Given the description of an element on the screen output the (x, y) to click on. 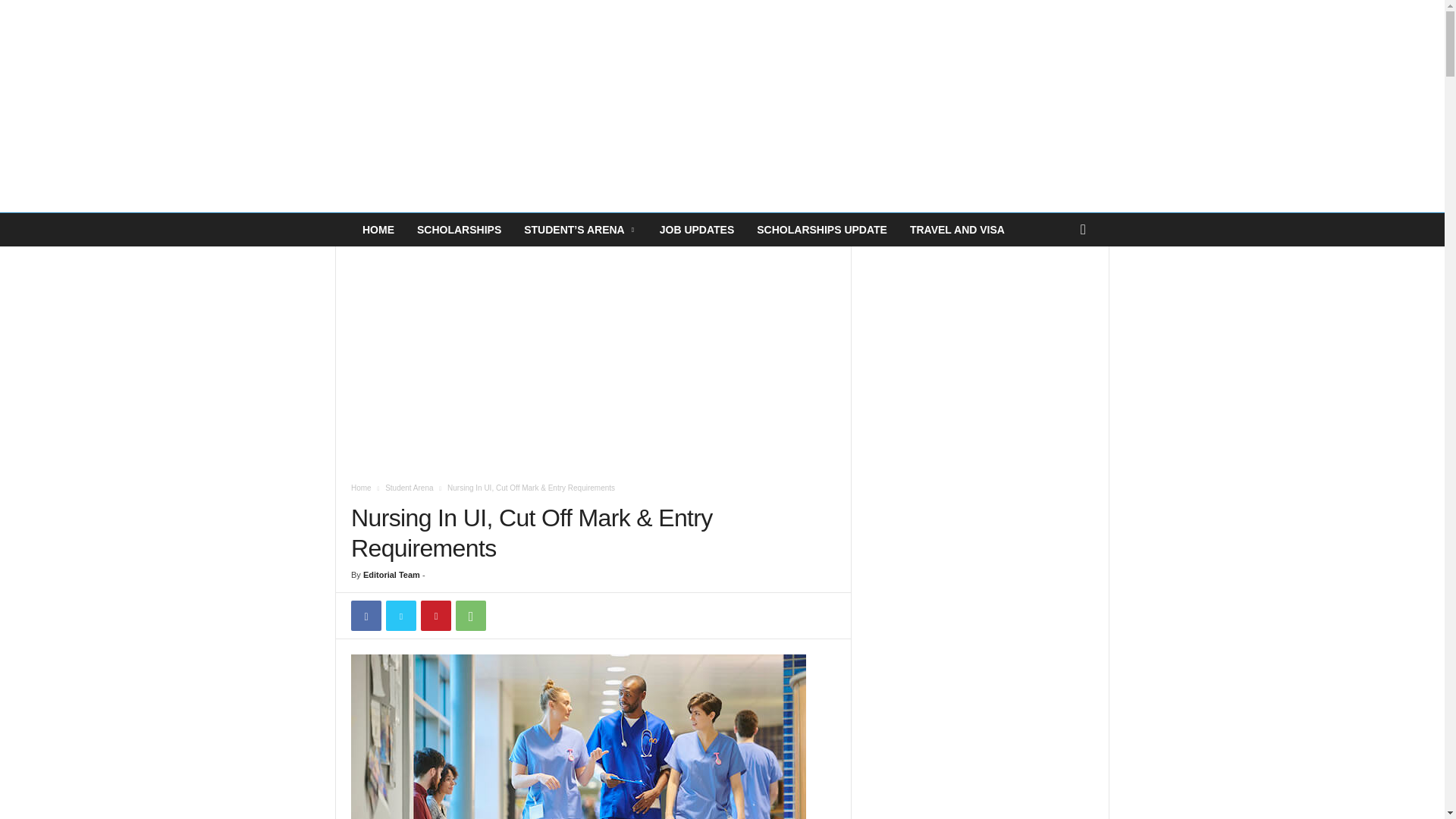
SCHOLARSHIPS UPDATE (821, 229)
Twitter (400, 615)
JOB UPDATES (696, 229)
WhatsApp (470, 615)
Facebook (365, 615)
View all posts in Student Arena (408, 488)
Pinterest (435, 615)
Student Arena (408, 488)
Home (360, 488)
SCHOLARSHIPS (459, 229)
Editorial Team (391, 574)
Advertisement (593, 358)
Nursing (578, 736)
TRAVEL AND VISA (957, 229)
